Given the description of an element on the screen output the (x, y) to click on. 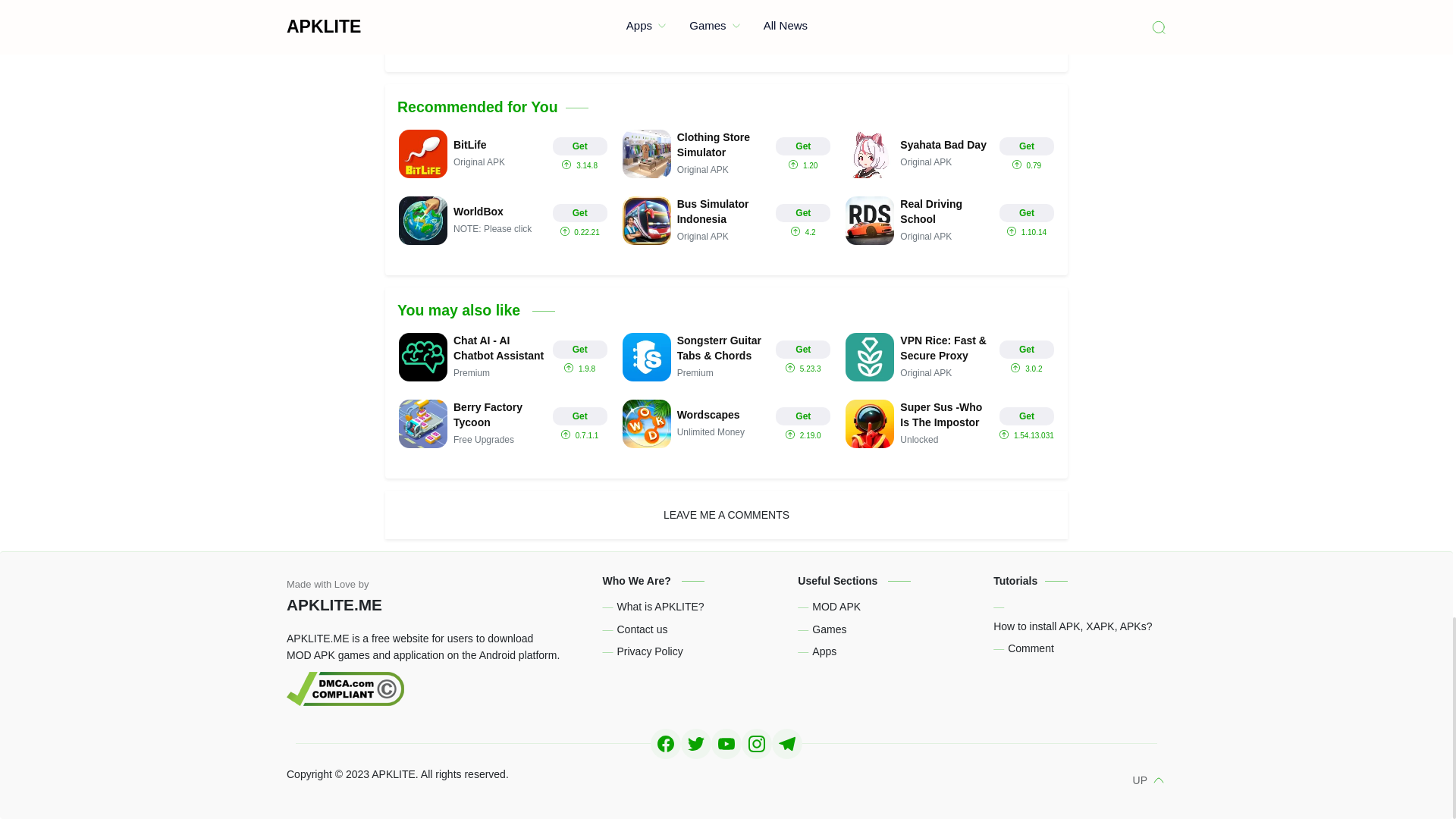
WorldBox (502, 220)
Bus Simulator Indonesia (727, 220)
Chat AI - AI Chatbot Assistant (502, 356)
Clothing Store Simulator (727, 153)
DMCA Compliance information for apklite.me (432, 688)
Real Driving School (949, 220)
Wordscapes (727, 423)
Super Sus -Who Is The Impostor (949, 423)
Berry Factory Tycoon (502, 423)
Syahata Bad Day (949, 153)
BitLife (502, 153)
